Given the description of an element on the screen output the (x, y) to click on. 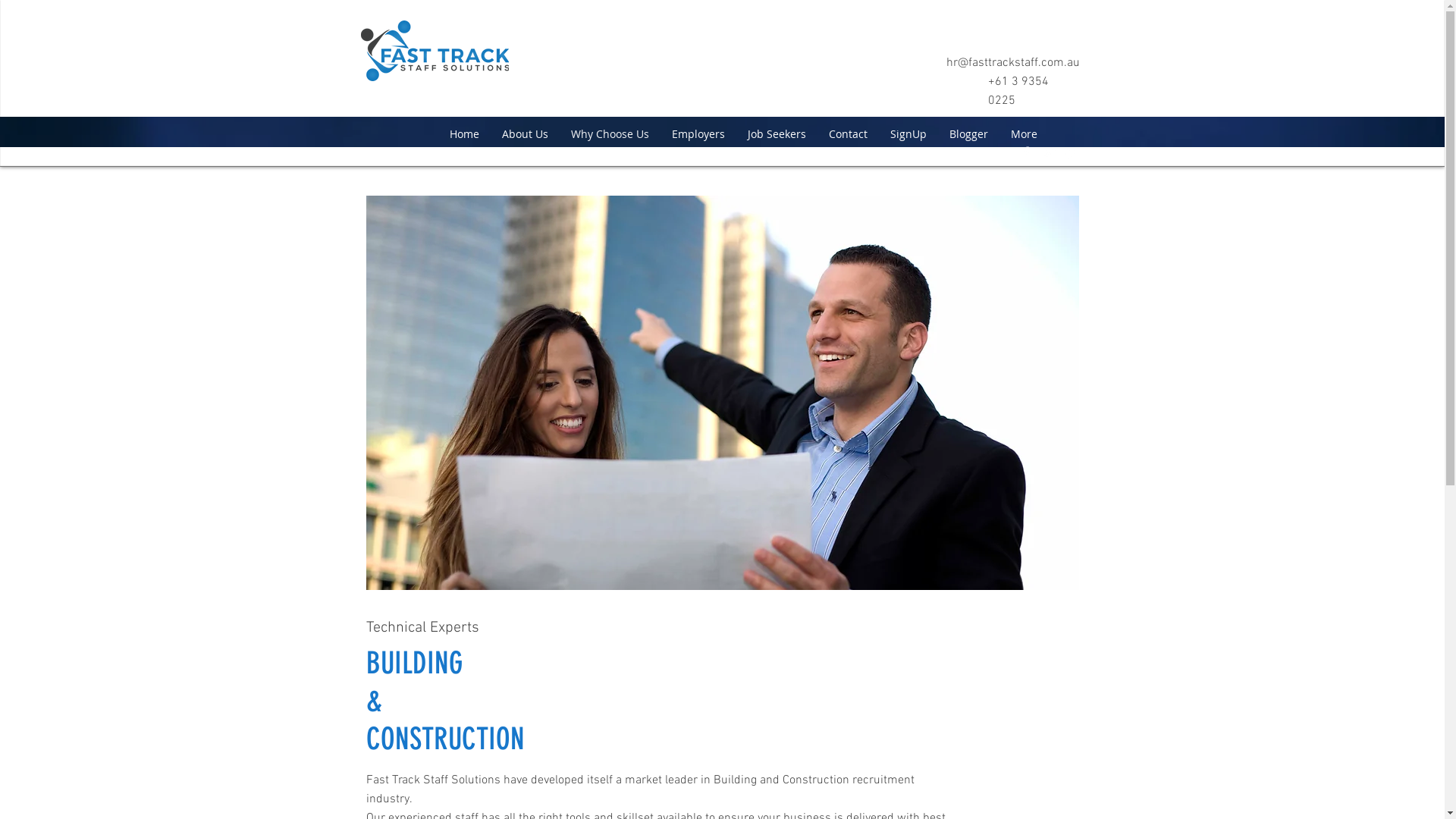
Blogger Element type: text (967, 133)
hr@fasttrackstaff.com.au Element type: text (1012, 62)
Job Seekers Element type: text (775, 133)
Employers Element type: text (697, 133)
About Us Element type: text (523, 133)
Why Choose Us Element type: text (609, 133)
Contact Element type: text (847, 133)
Home Element type: text (464, 133)
SignUp Element type: text (907, 133)
